Given the description of an element on the screen output the (x, y) to click on. 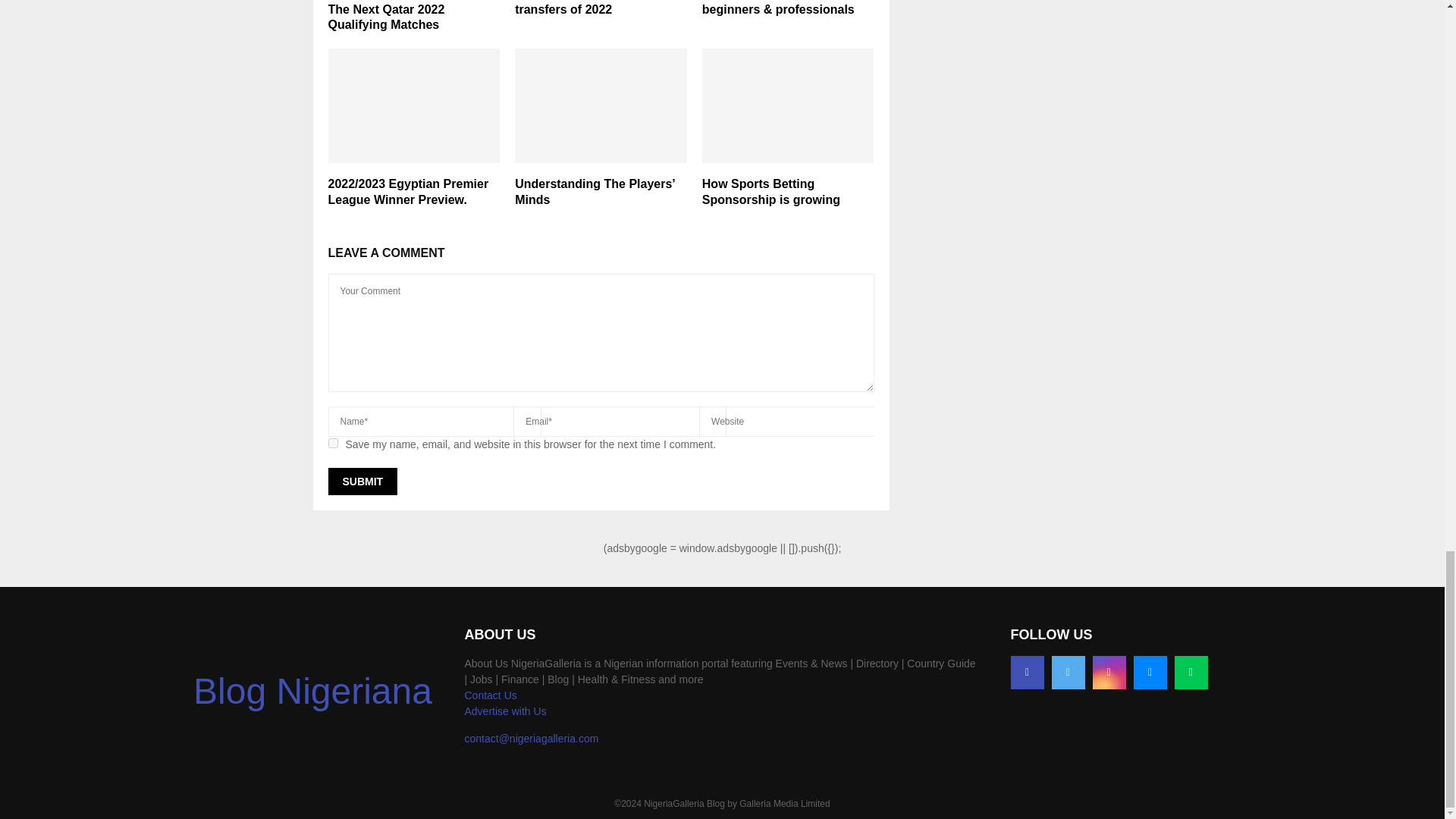
Submit (362, 481)
yes (332, 442)
